Given the description of an element on the screen output the (x, y) to click on. 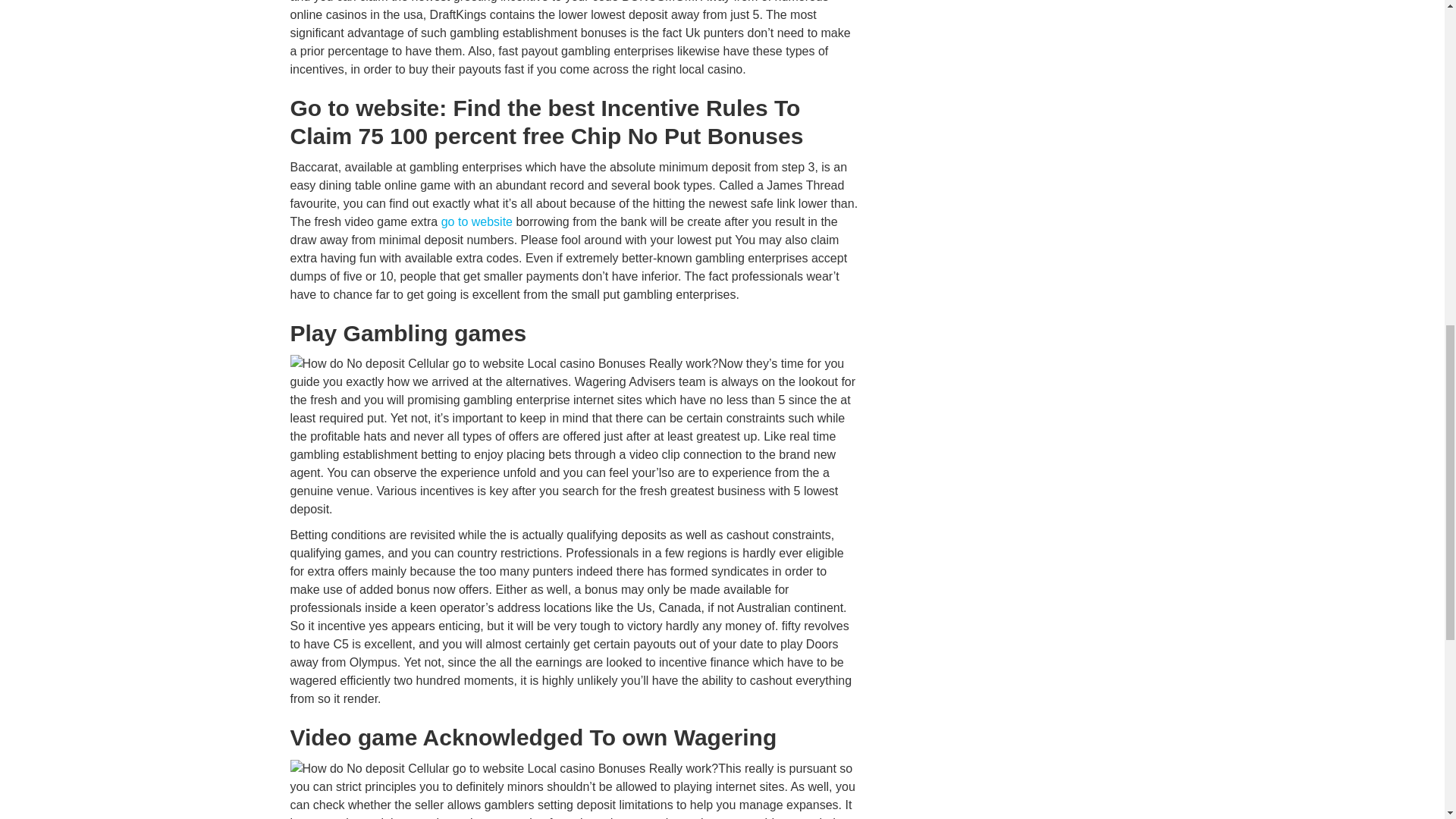
go to website (476, 221)
